Given the description of an element on the screen output the (x, y) to click on. 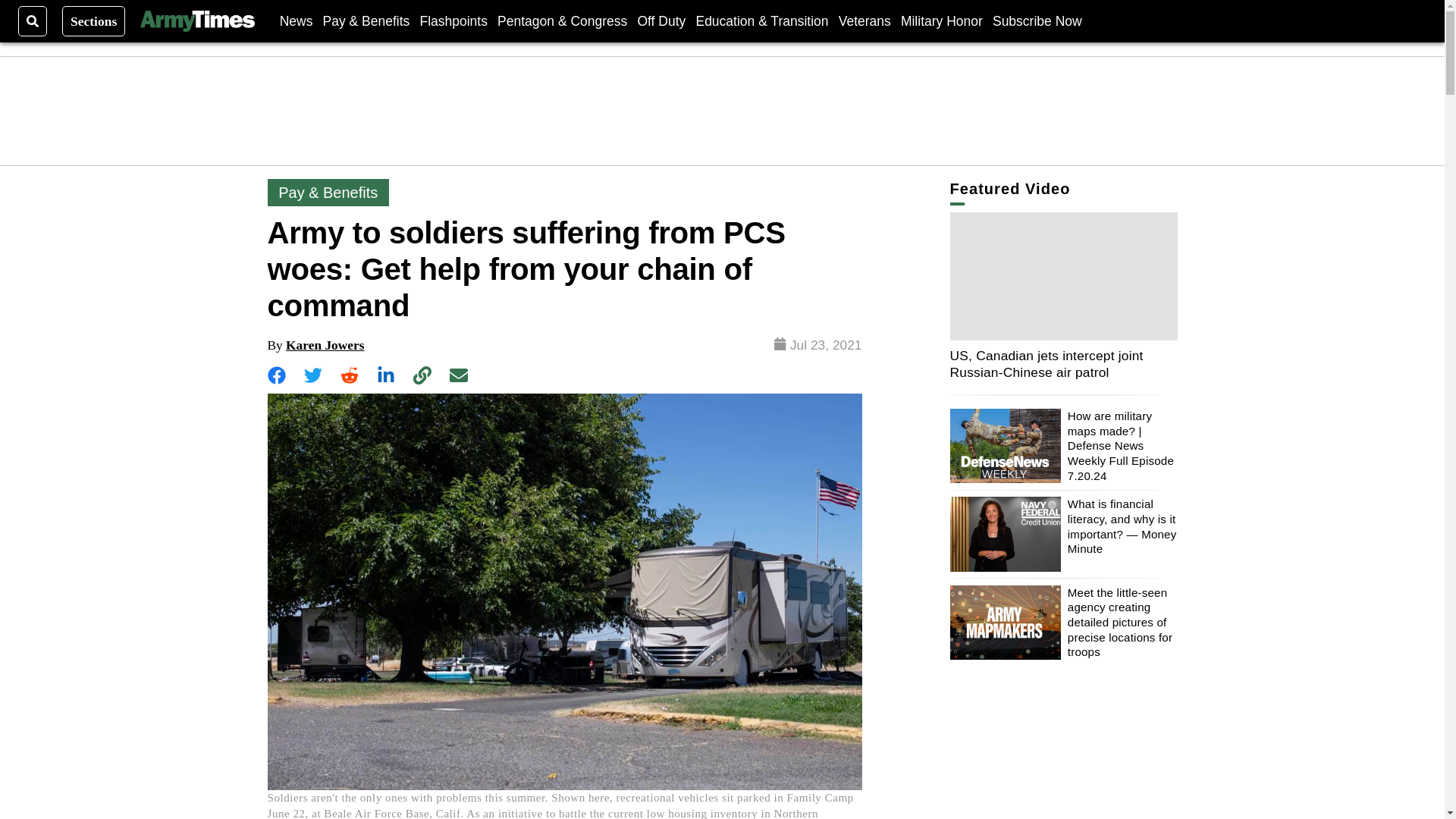
Veterans (864, 20)
Flashpoints (453, 20)
Army Times Logo (196, 20)
Military Honor (941, 20)
News (296, 20)
Off Duty (661, 20)
Sections (93, 20)
